Given the description of an element on the screen output the (x, y) to click on. 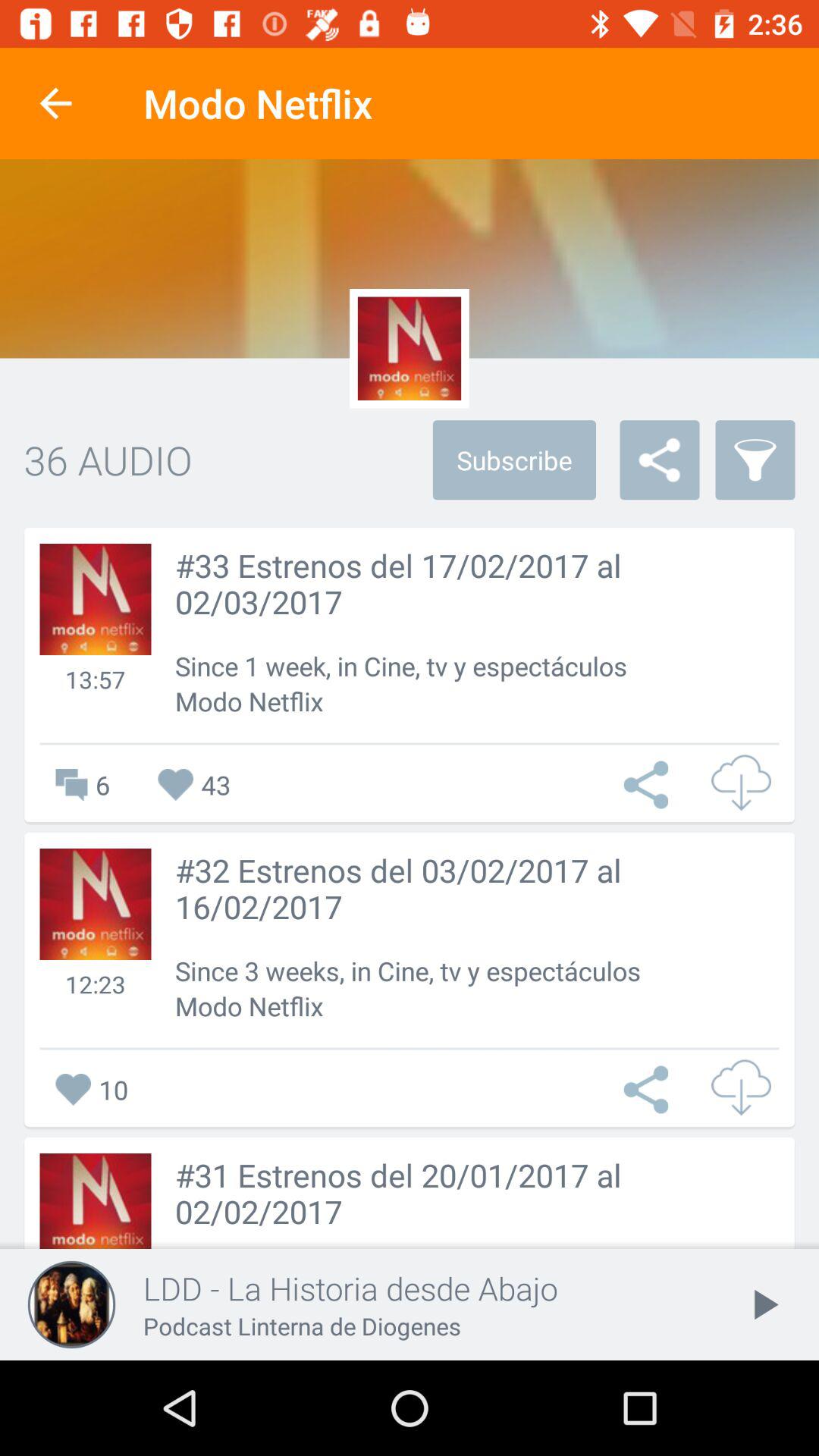
turn off icon above the 33 estrenos del item (755, 459)
